Given the description of an element on the screen output the (x, y) to click on. 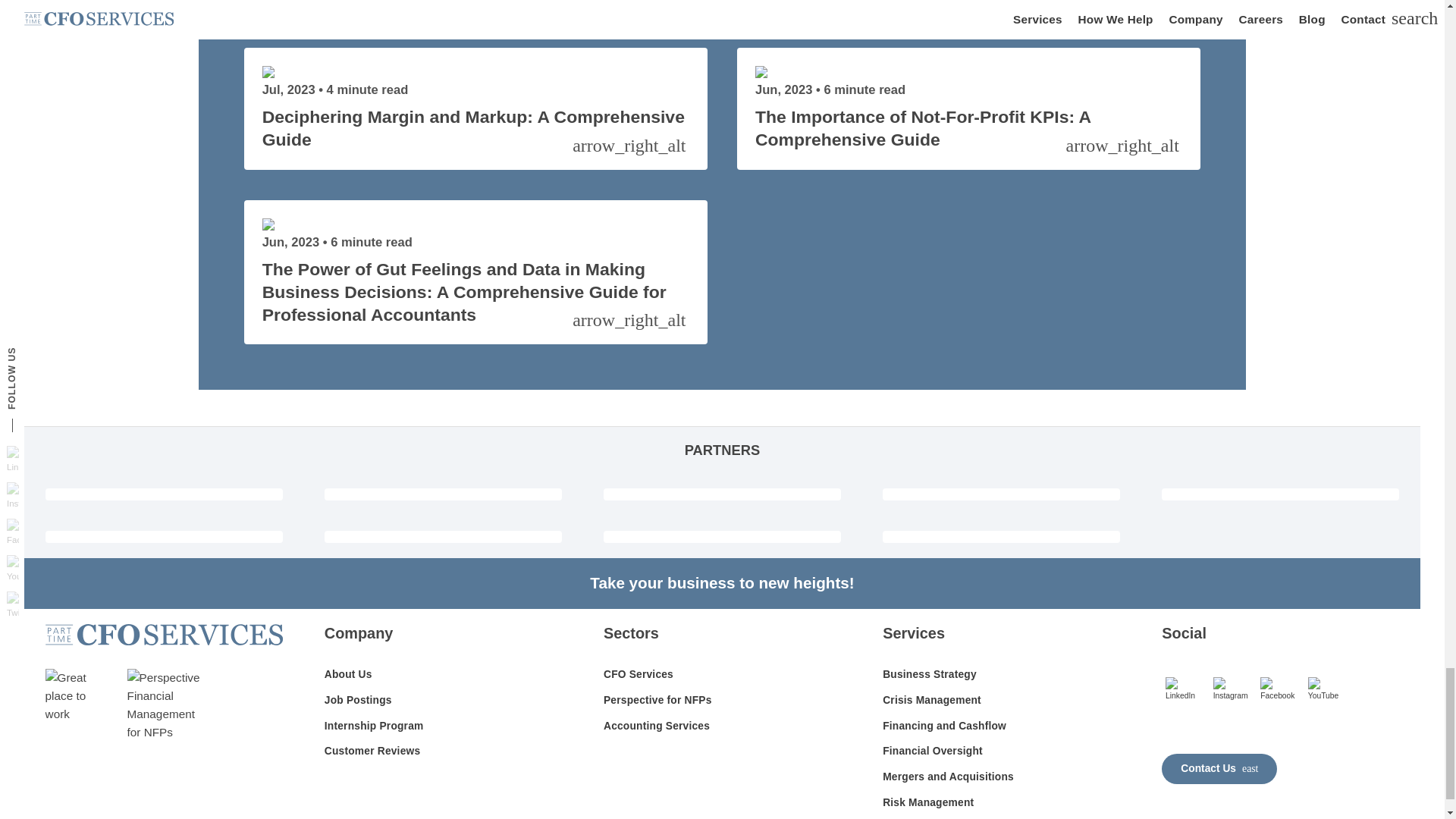
YouTube Profile (1327, 689)
Facebook Profile (1280, 689)
LinkedIn Profile (1185, 689)
Instagram Profile (1232, 689)
